Given the description of an element on the screen output the (x, y) to click on. 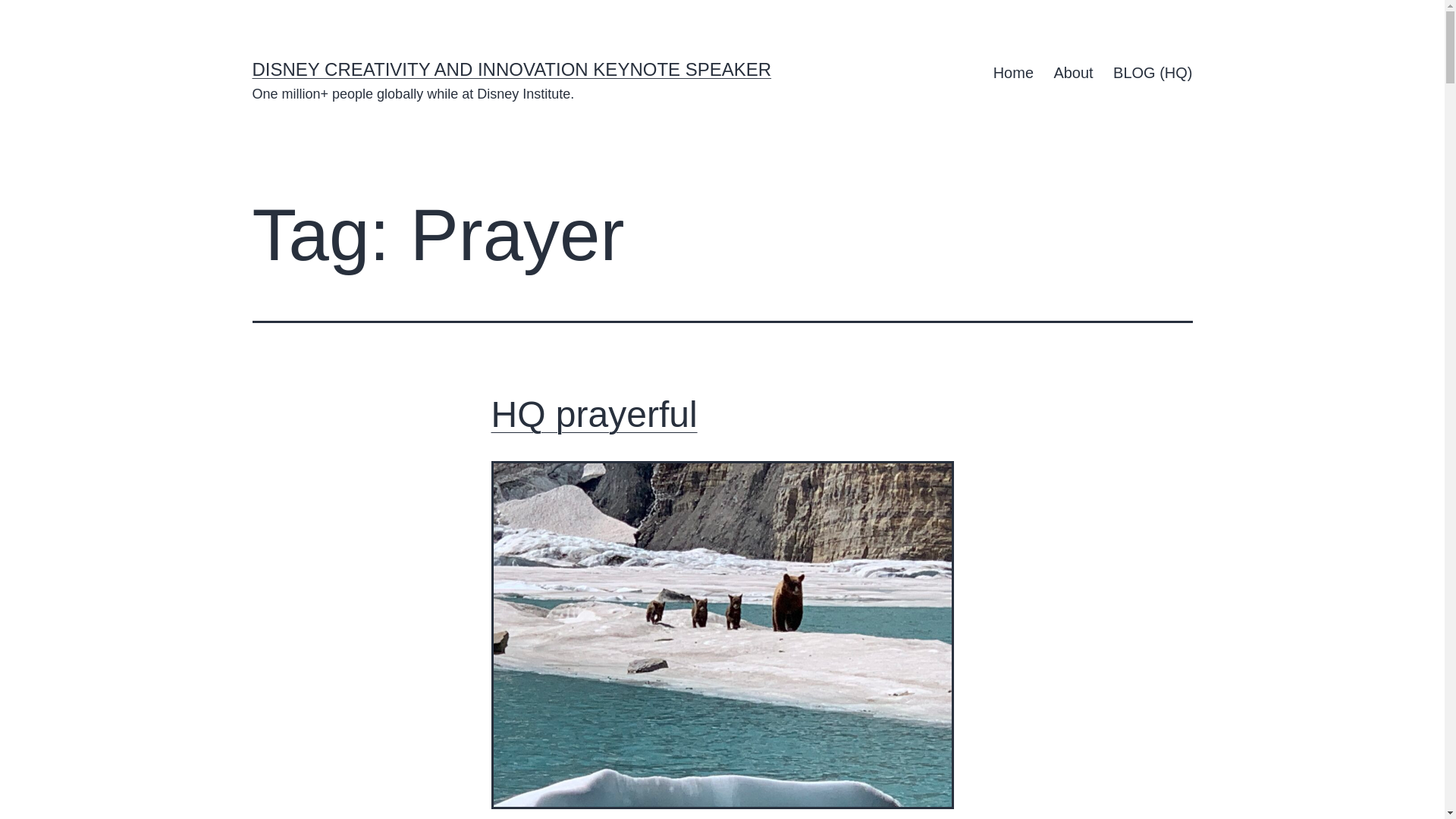
Home (1012, 72)
DISNEY CREATIVITY AND INNOVATION KEYNOTE SPEAKER (511, 68)
About (1073, 72)
HQ prayerful (594, 413)
